Given the description of an element on the screen output the (x, y) to click on. 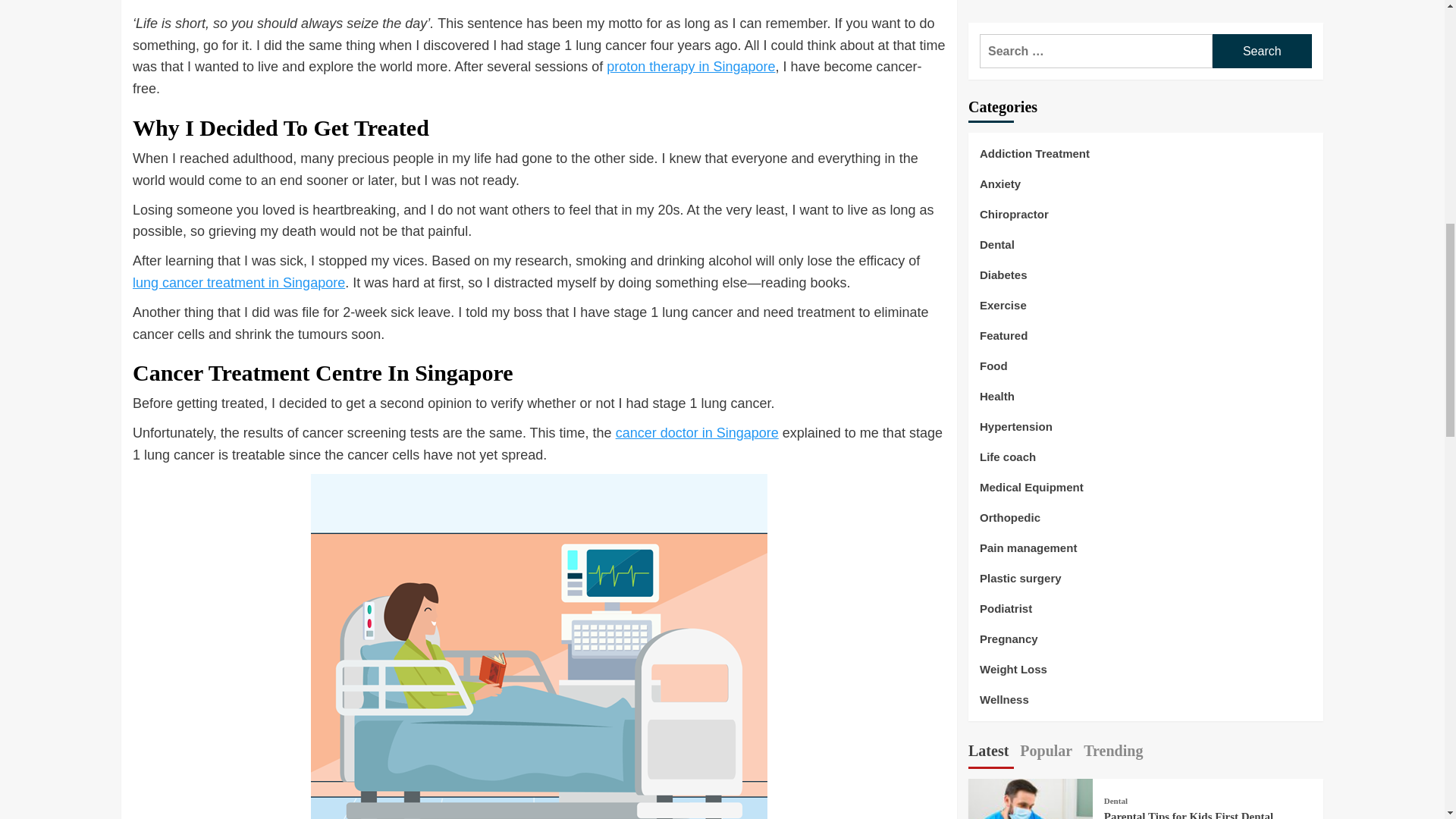
proton therapy in Singapore (690, 66)
cancer doctor in Singapore (696, 432)
lung cancer treatment in Singapore (238, 282)
